Given the description of an element on the screen output the (x, y) to click on. 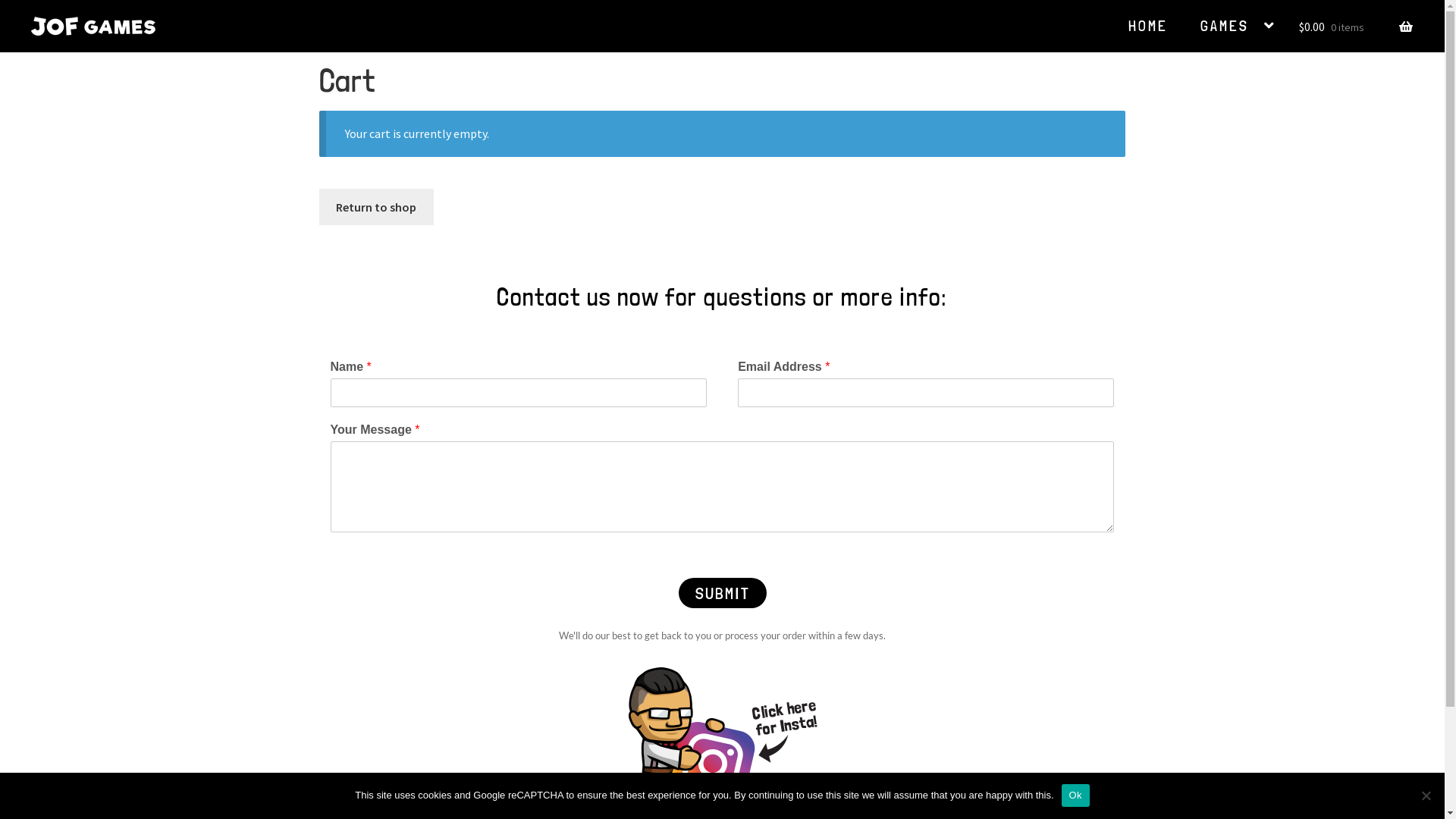
No Element type: hover (1425, 795)
Return to shop Element type: text (376, 206)
GAMES Element type: text (1238, 25)
$0.00 0 items Element type: text (1355, 24)
SUBMIT Element type: text (721, 592)
Ok Element type: text (1075, 795)
HOME Element type: text (1148, 25)
Skip to navigation Element type: text (29, 38)
